Given the description of an element on the screen output the (x, y) to click on. 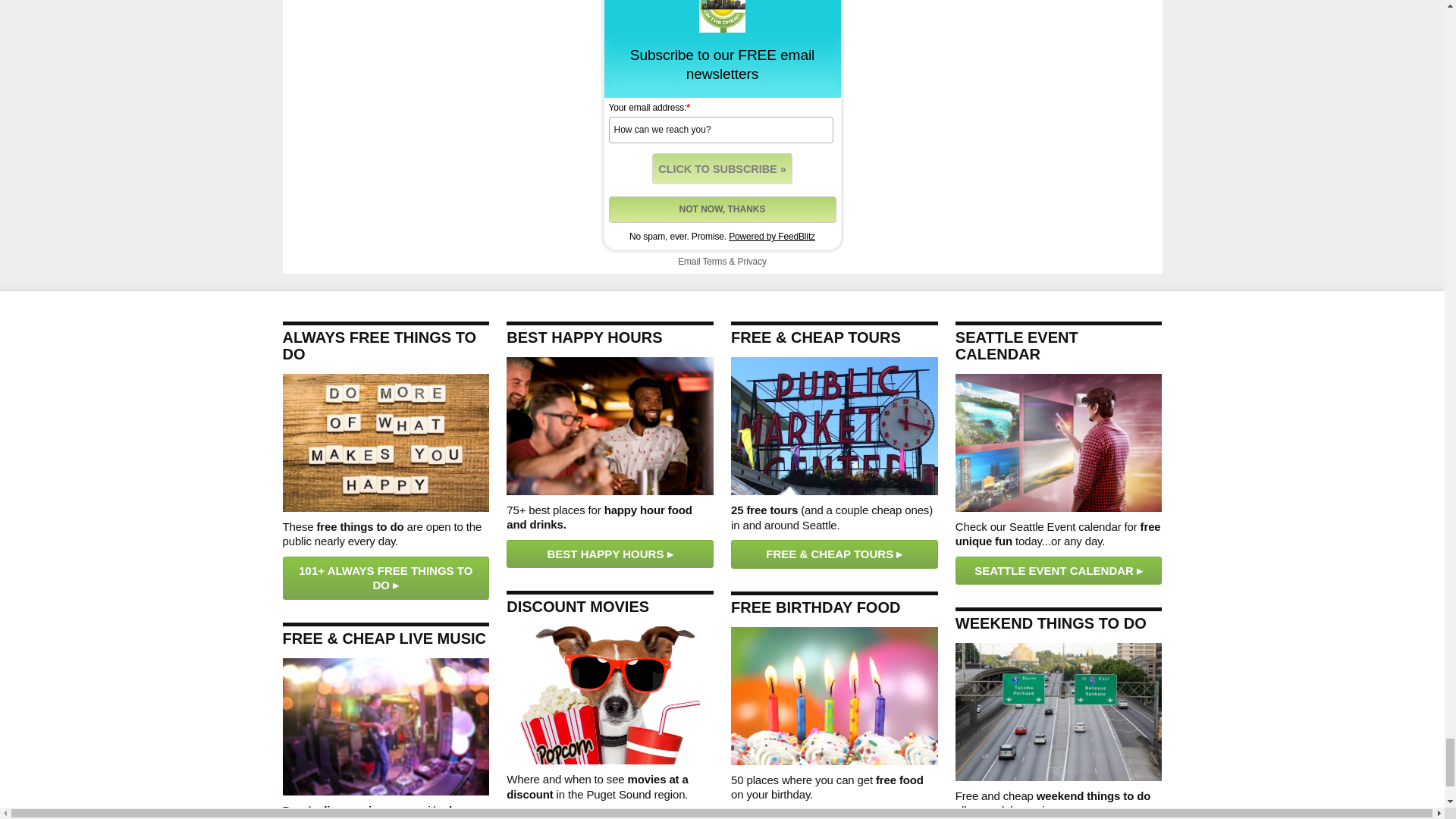
How can we reach you? (720, 129)
Hide this form for now (721, 208)
click to join (722, 168)
Email subscriptions terms of service (713, 261)
Email subscriptions privacy policy (752, 261)
Not now, thanks (721, 208)
